Given the description of an element on the screen output the (x, y) to click on. 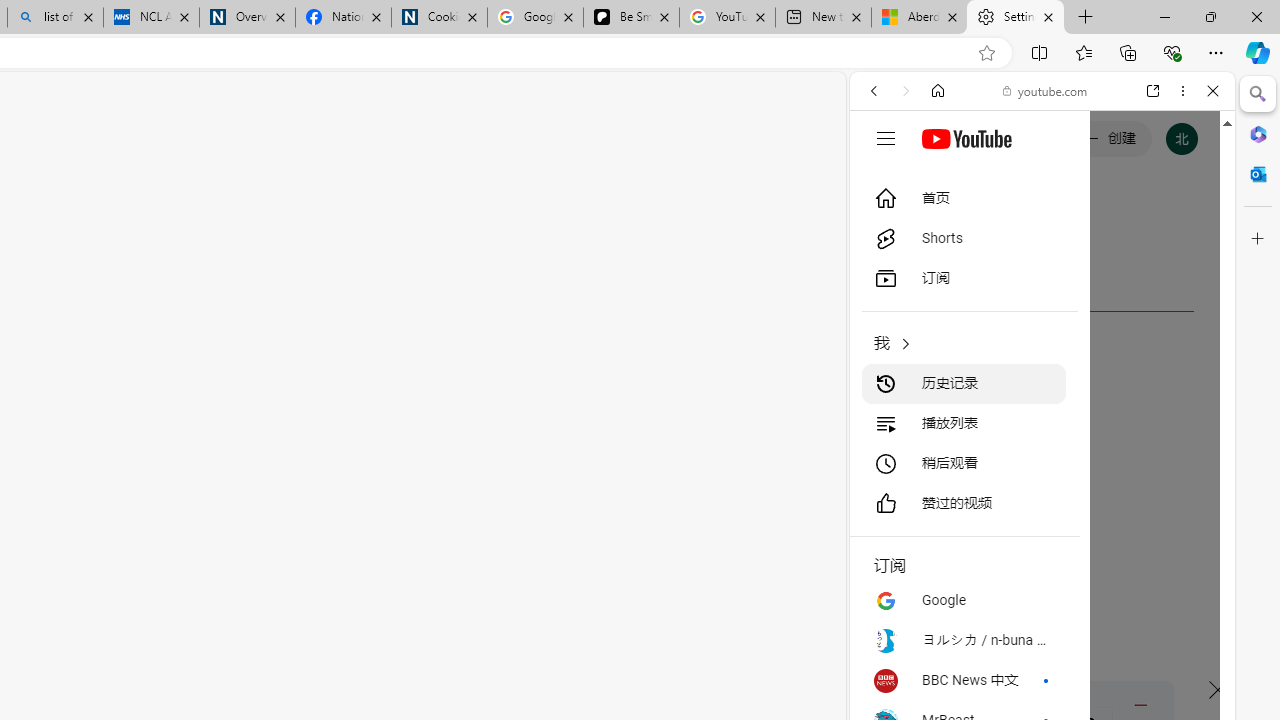
YouTube (1034, 296)
Shorts (963, 238)
